Given the description of an element on the screen output the (x, y) to click on. 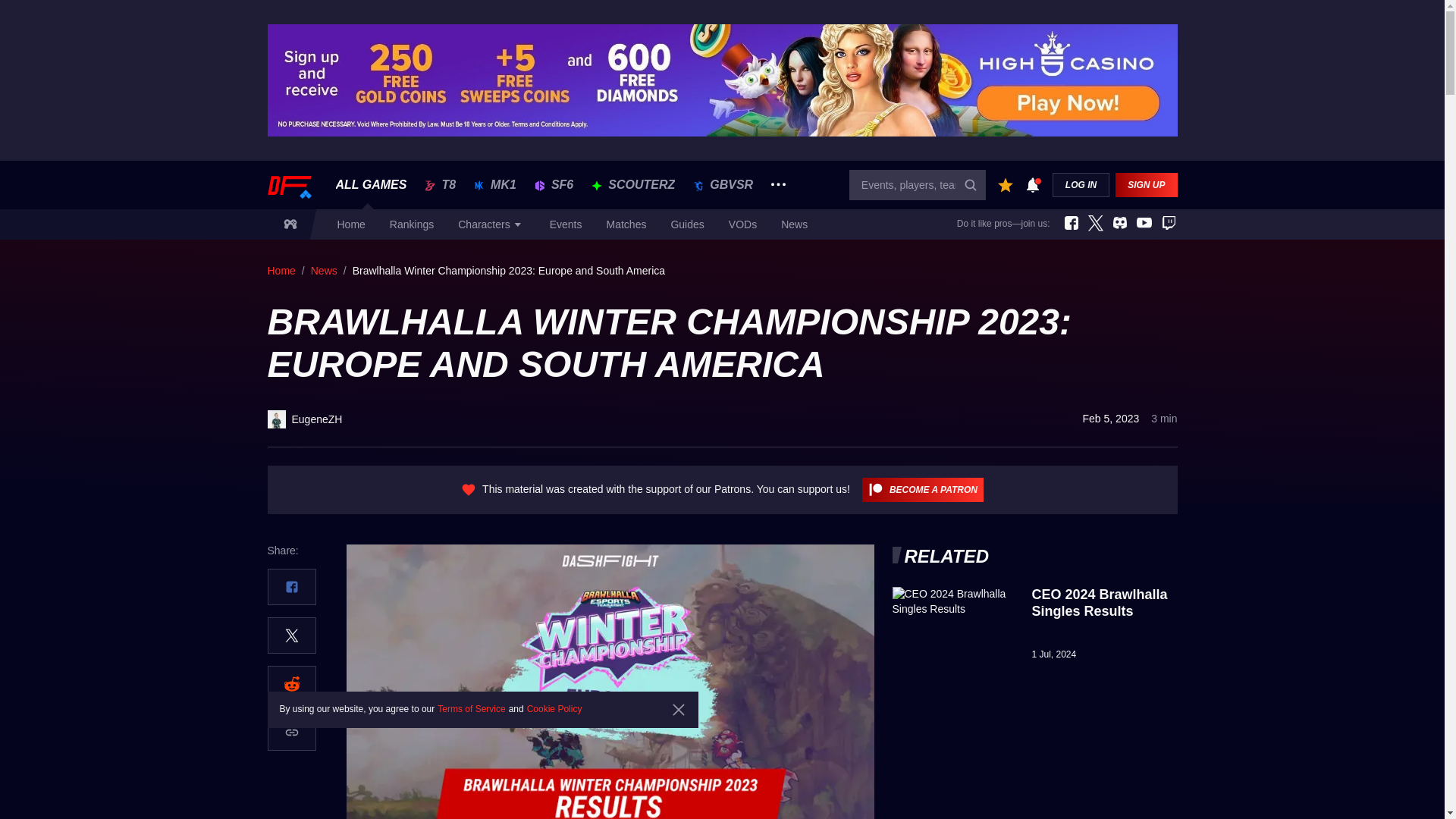
ALL GAMES (370, 184)
SF6 (553, 184)
T8 (440, 184)
MK1 (495, 184)
